Given the description of an element on the screen output the (x, y) to click on. 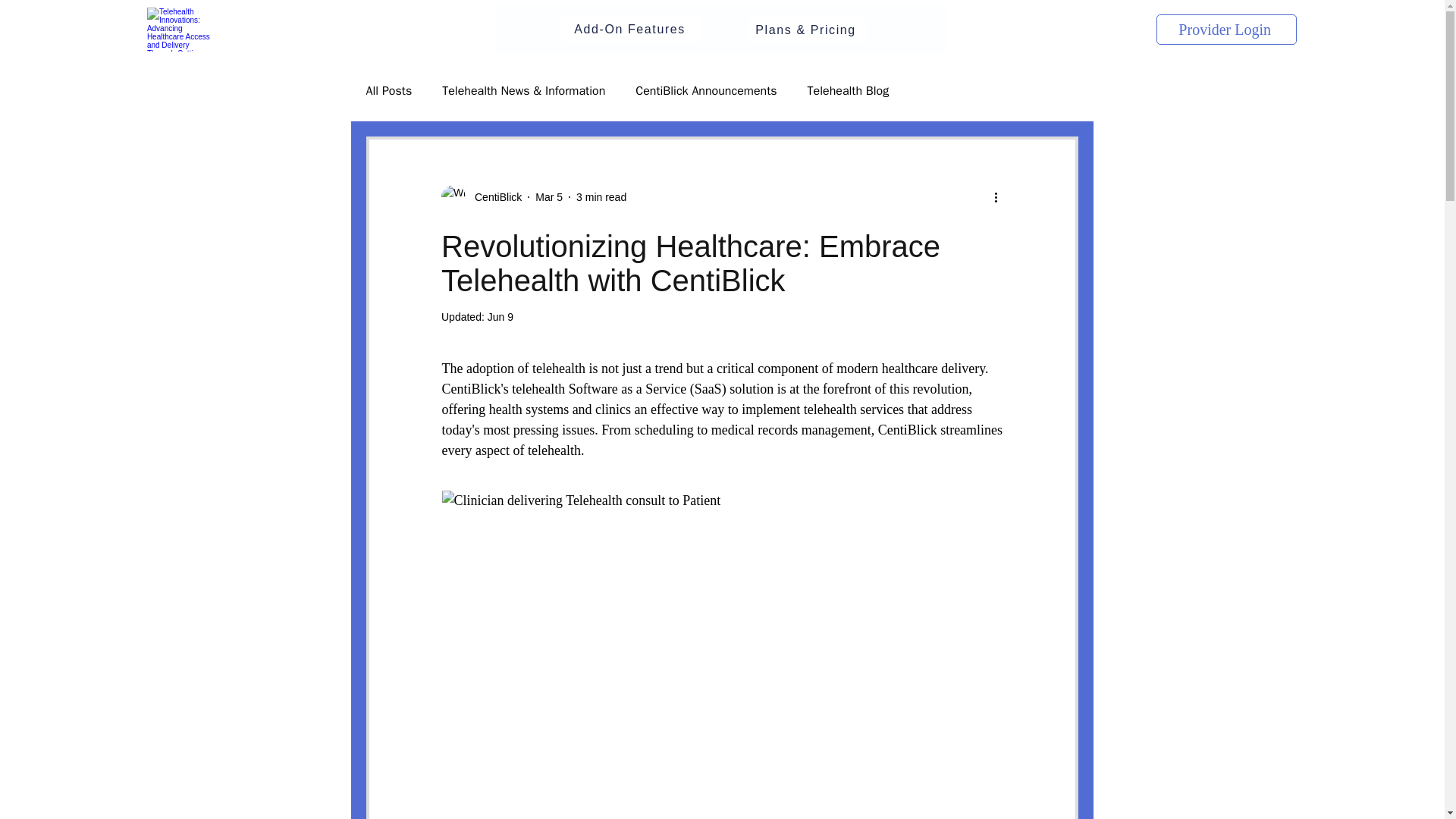
Jun 9 (500, 316)
Telehealth Blog (848, 91)
CentiBlick (493, 197)
CentiBlick (481, 197)
All Posts (388, 91)
Add-On Features (630, 28)
CentiBlick Announcements (705, 91)
Provider Login (1226, 29)
3 min read (601, 196)
